Given the description of an element on the screen output the (x, y) to click on. 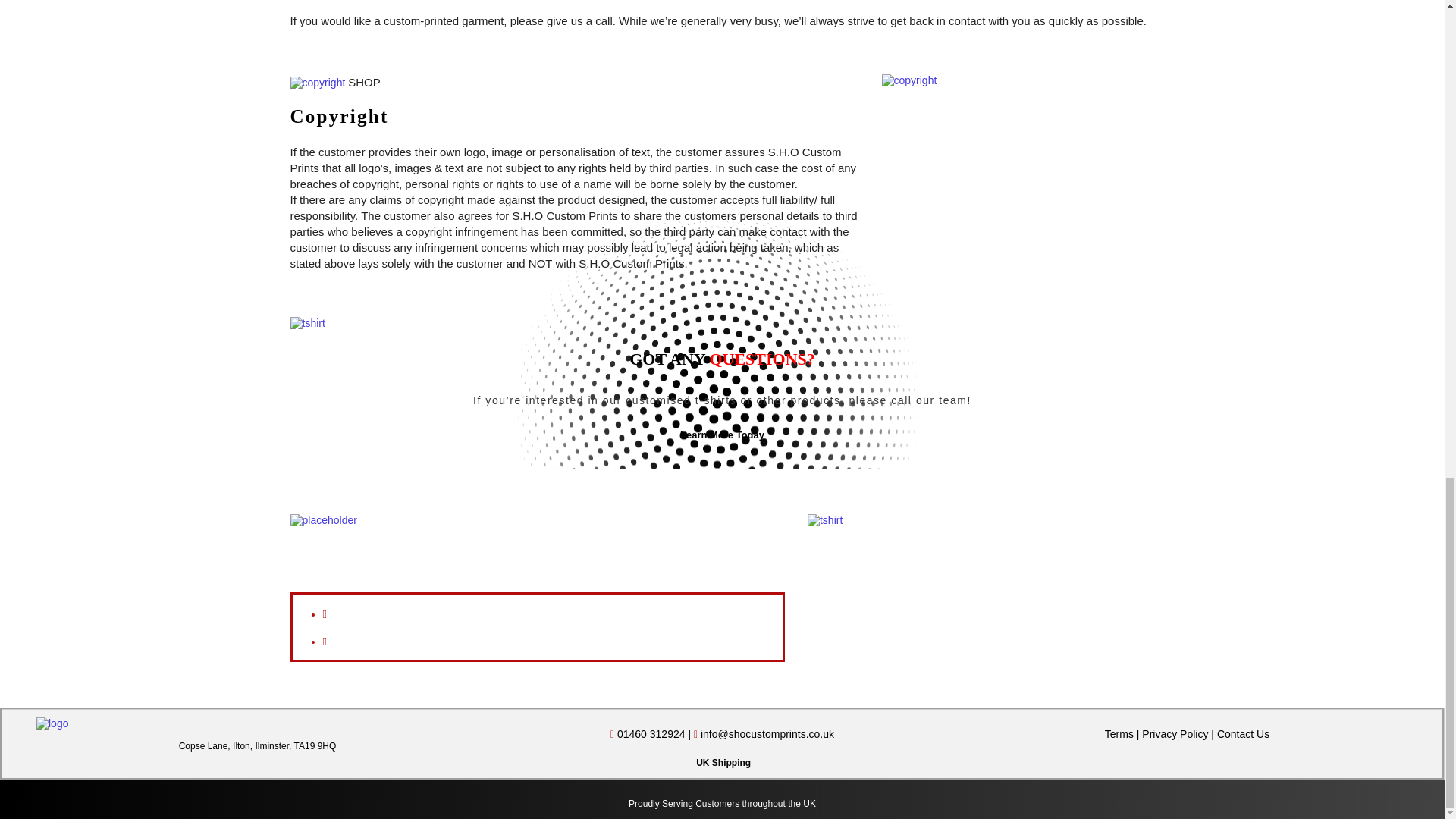
Learn More Today (722, 435)
SHOP (335, 82)
Terms (1119, 734)
Privacy Policy (1174, 734)
Contact Us (1243, 734)
